Given the description of an element on the screen output the (x, y) to click on. 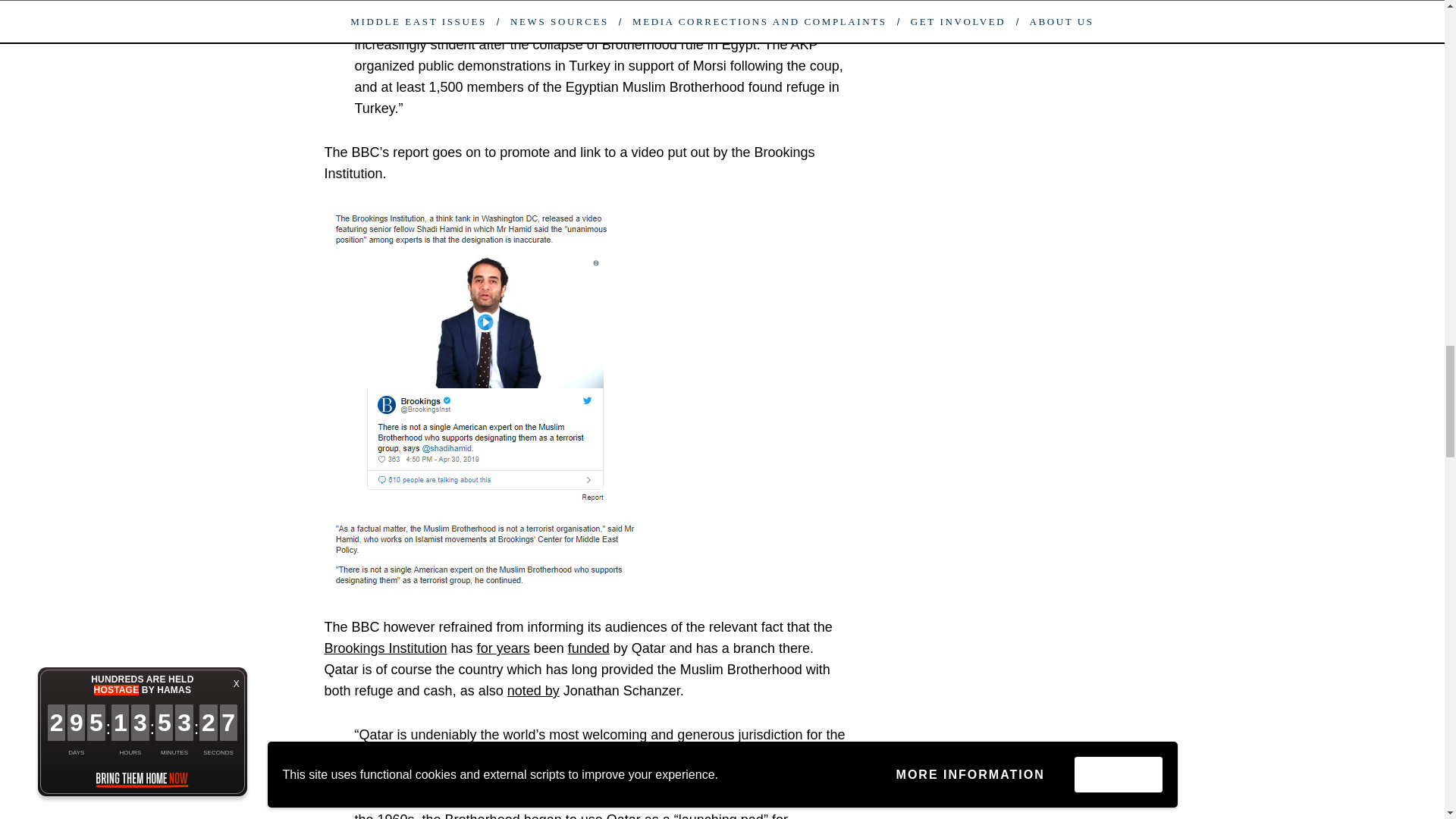
Brookings Institution (385, 648)
for years (503, 648)
